Given the description of an element on the screen output the (x, y) to click on. 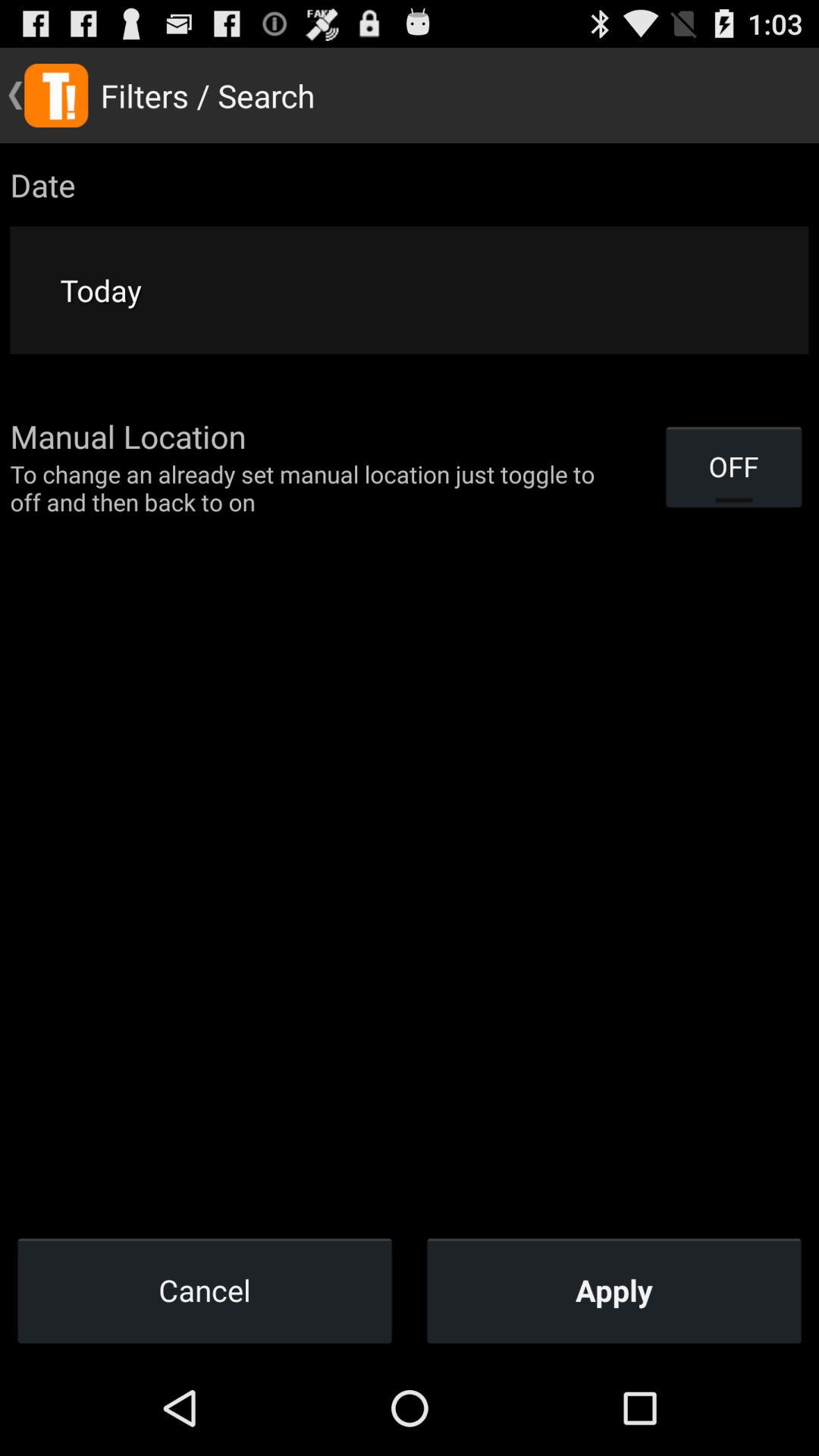
swipe until apply icon (613, 1290)
